Given the description of an element on the screen output the (x, y) to click on. 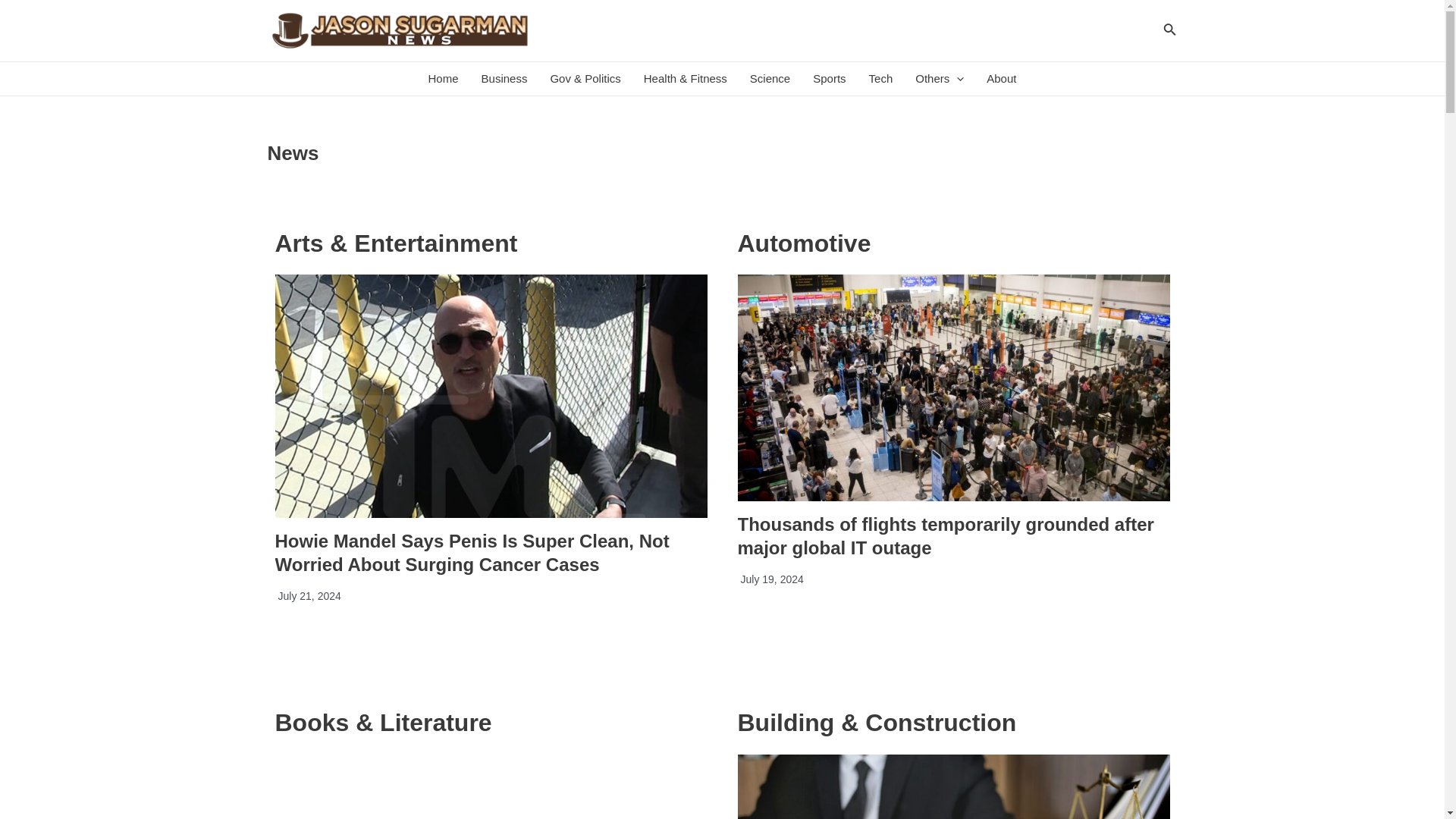
Sports (829, 78)
Tech (880, 78)
About (1001, 78)
Others (939, 78)
Home (443, 78)
Business (504, 78)
Science (770, 78)
